Given the description of an element on the screen output the (x, y) to click on. 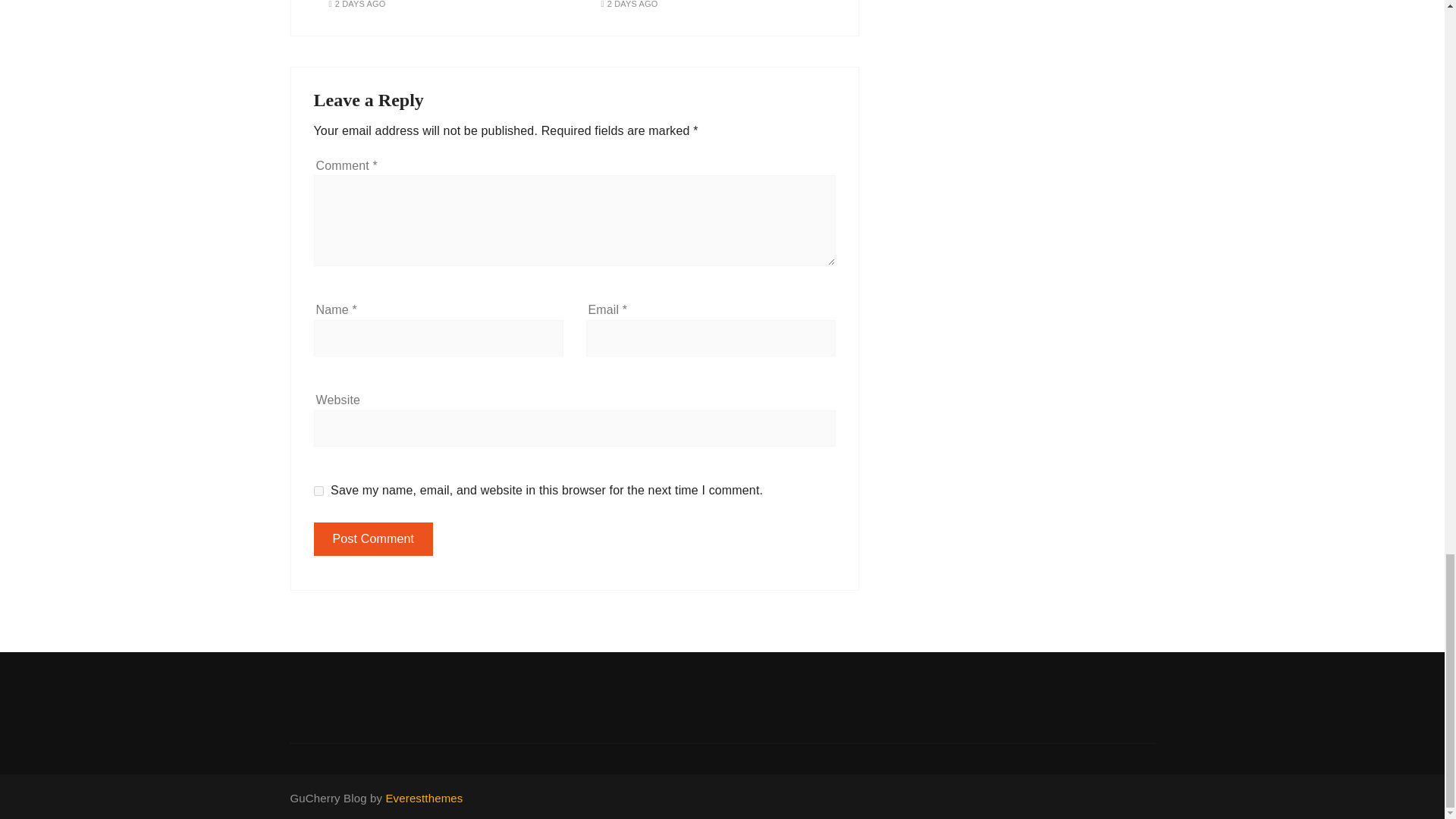
Post Comment (373, 539)
Everestthemes (424, 797)
Post Comment (373, 539)
yes (318, 491)
